Given the description of an element on the screen output the (x, y) to click on. 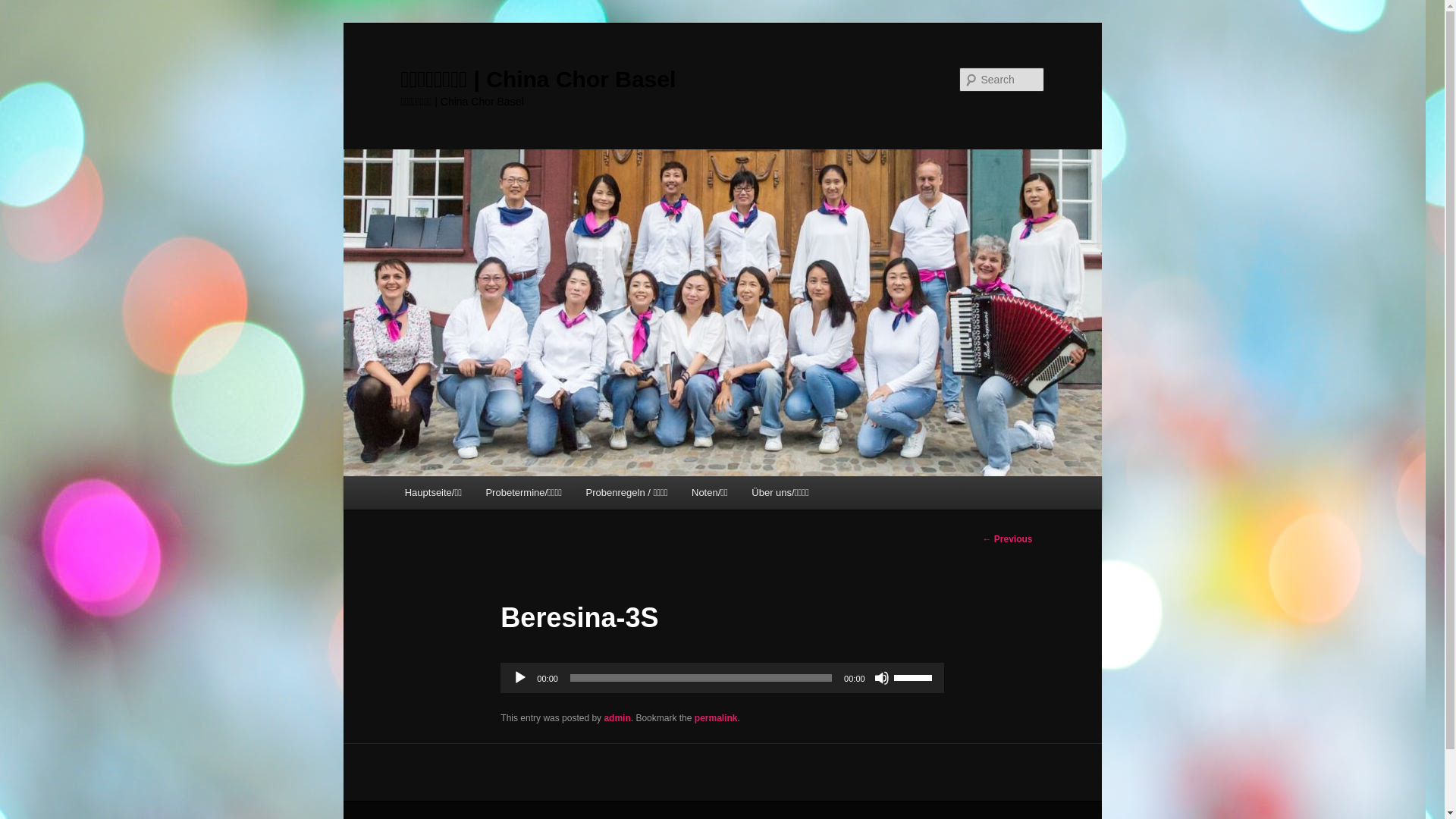
Play Element type: hover (519, 677)
admin Element type: text (616, 717)
Search Element type: text (24, 8)
Mute Element type: hover (881, 677)
Use Up/Down Arrow keys to increase or decrease volume. Element type: text (915, 676)
Skip to primary content Element type: text (22, 22)
permalink Element type: text (715, 717)
